Given the description of an element on the screen output the (x, y) to click on. 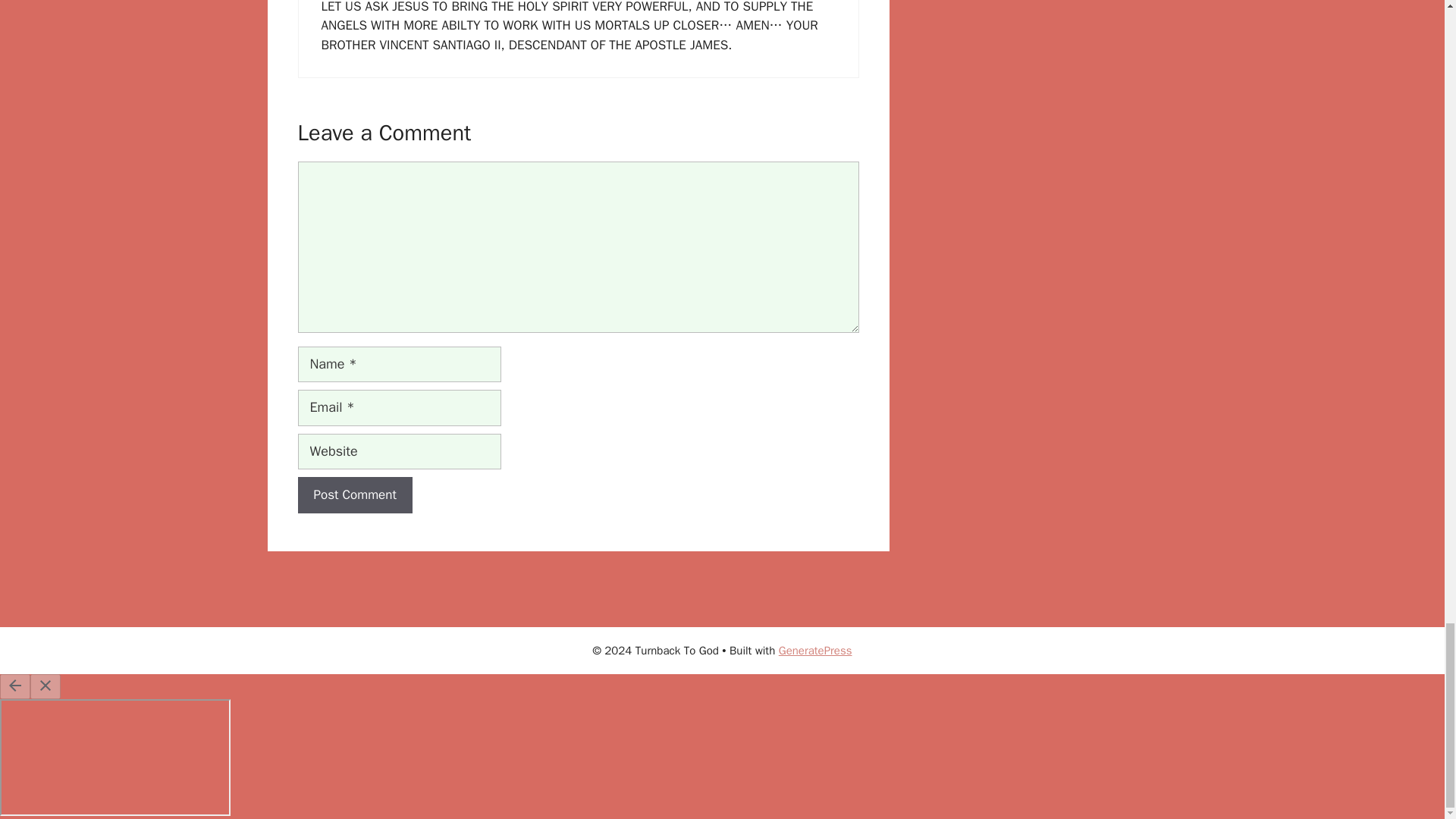
Post Comment (354, 494)
Post Comment (354, 494)
